Given the description of an element on the screen output the (x, y) to click on. 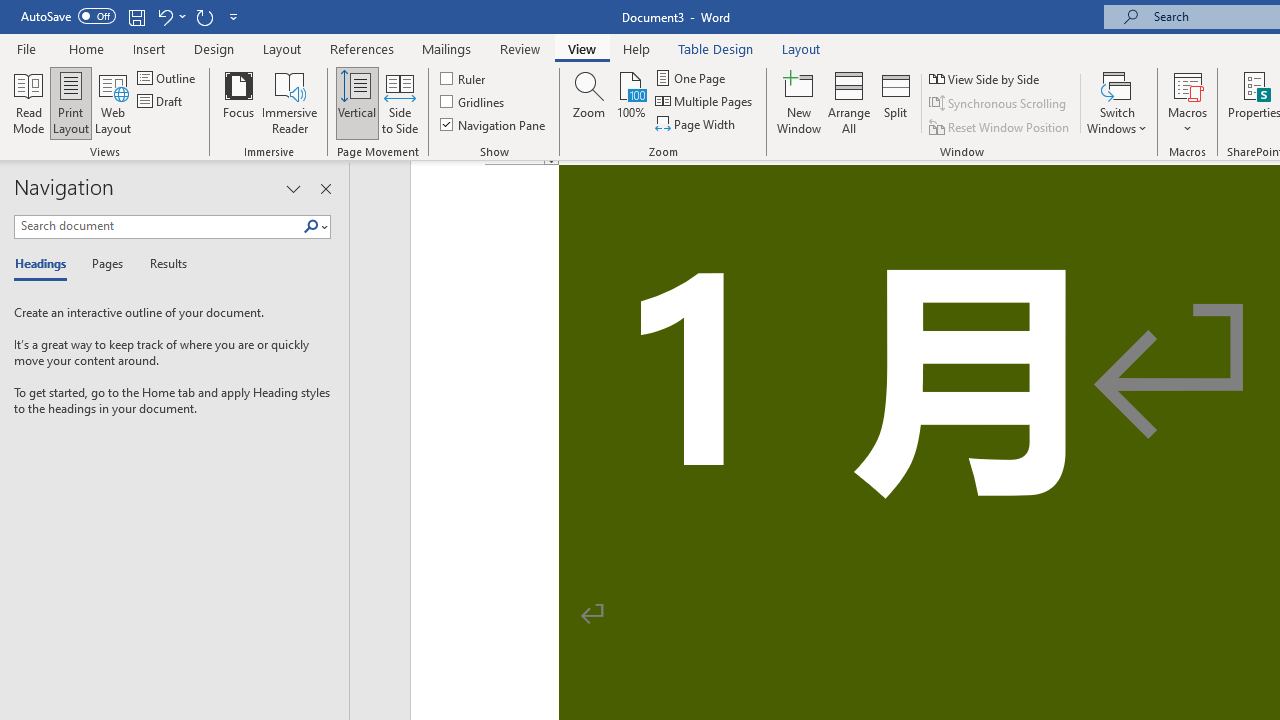
Read Mode (28, 102)
Table Design (715, 48)
Immersive Reader (289, 102)
AutoSave (68, 16)
Vertical (356, 102)
Customize Quick Access Toolbar (234, 15)
Switch Windows (1117, 102)
Focus (238, 102)
Undo Increase Indent (164, 15)
View Macros (1187, 84)
Close pane (325, 188)
Arrange All (848, 102)
Gridlines (473, 101)
